Given the description of an element on the screen output the (x, y) to click on. 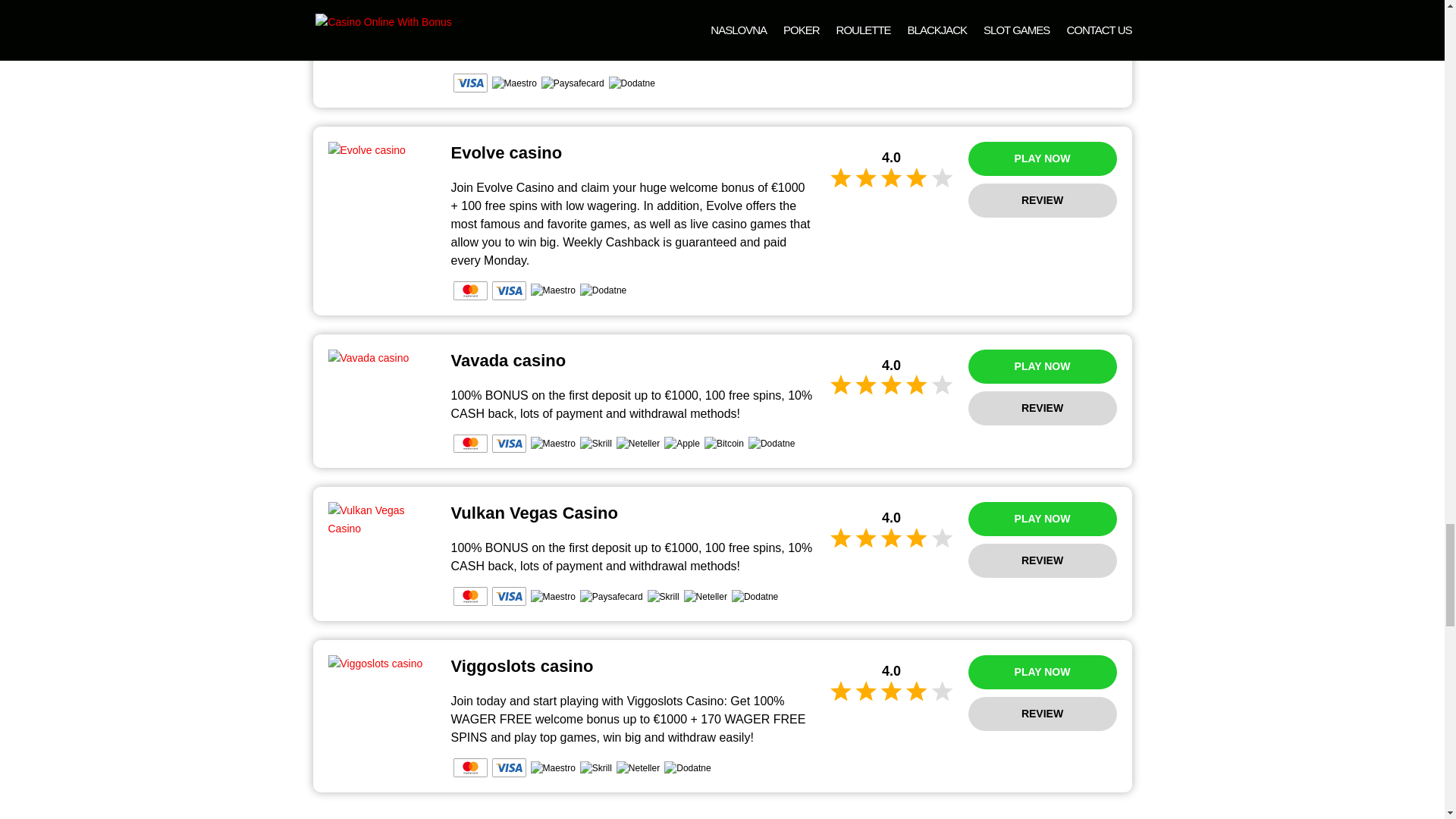
REVIEW (1042, 4)
REVIEW (1042, 200)
PLAY NOW (1042, 366)
REVIEW (1042, 408)
PLAY NOW (1042, 158)
